Given the description of an element on the screen output the (x, y) to click on. 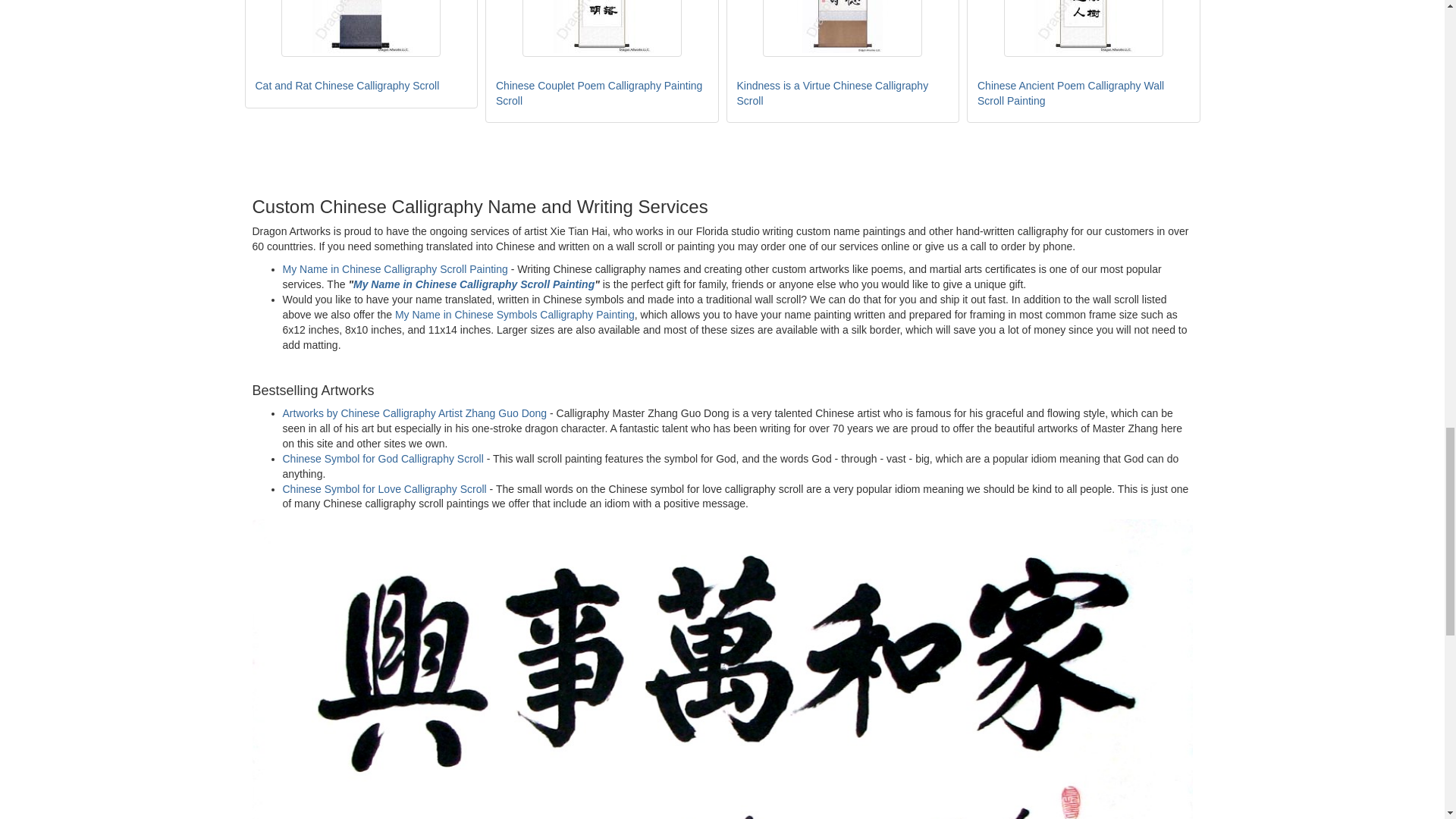
Kindness is a Virtue Chinese Calligraphy Scroll (841, 28)
Chinese Couplet Poem Calligraphy Painting Scroll (601, 28)
Cat and Rat Chinese Calligraphy Scroll (361, 28)
